Given the description of an element on the screen output the (x, y) to click on. 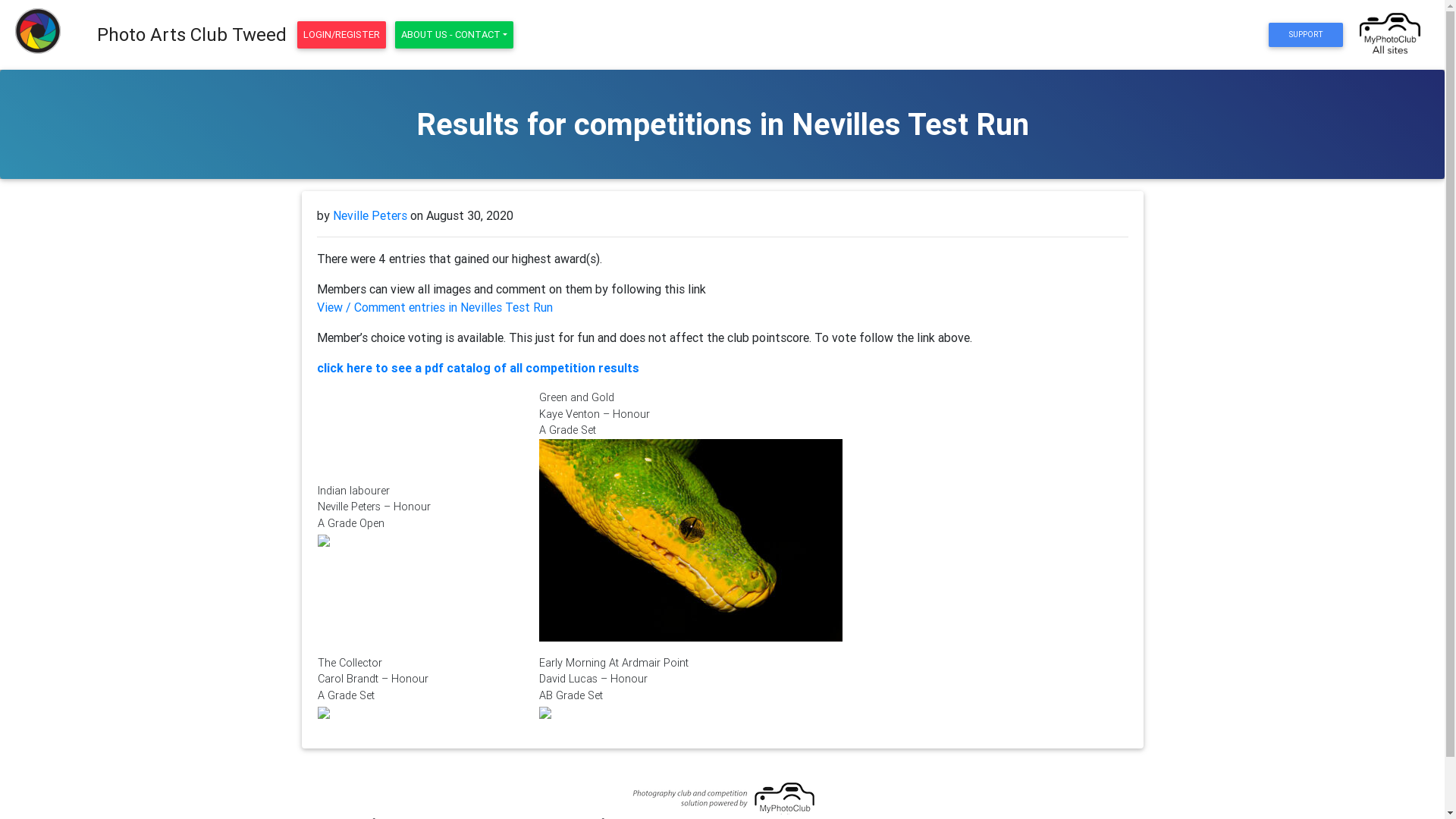
Photo Arts Club Tweed Element type: text (191, 35)
Neville Peters Element type: text (369, 214)
ABOUT US - CONTACT Element type: text (454, 34)
LOGIN/REGISTER Element type: text (341, 34)
SUPPORT Element type: text (1305, 34)
View / Comment entries in Nevilles Test Run Element type: text (434, 306)
click here to see a pdf catalog of all competition results Element type: text (477, 367)
